Given the description of an element on the screen output the (x, y) to click on. 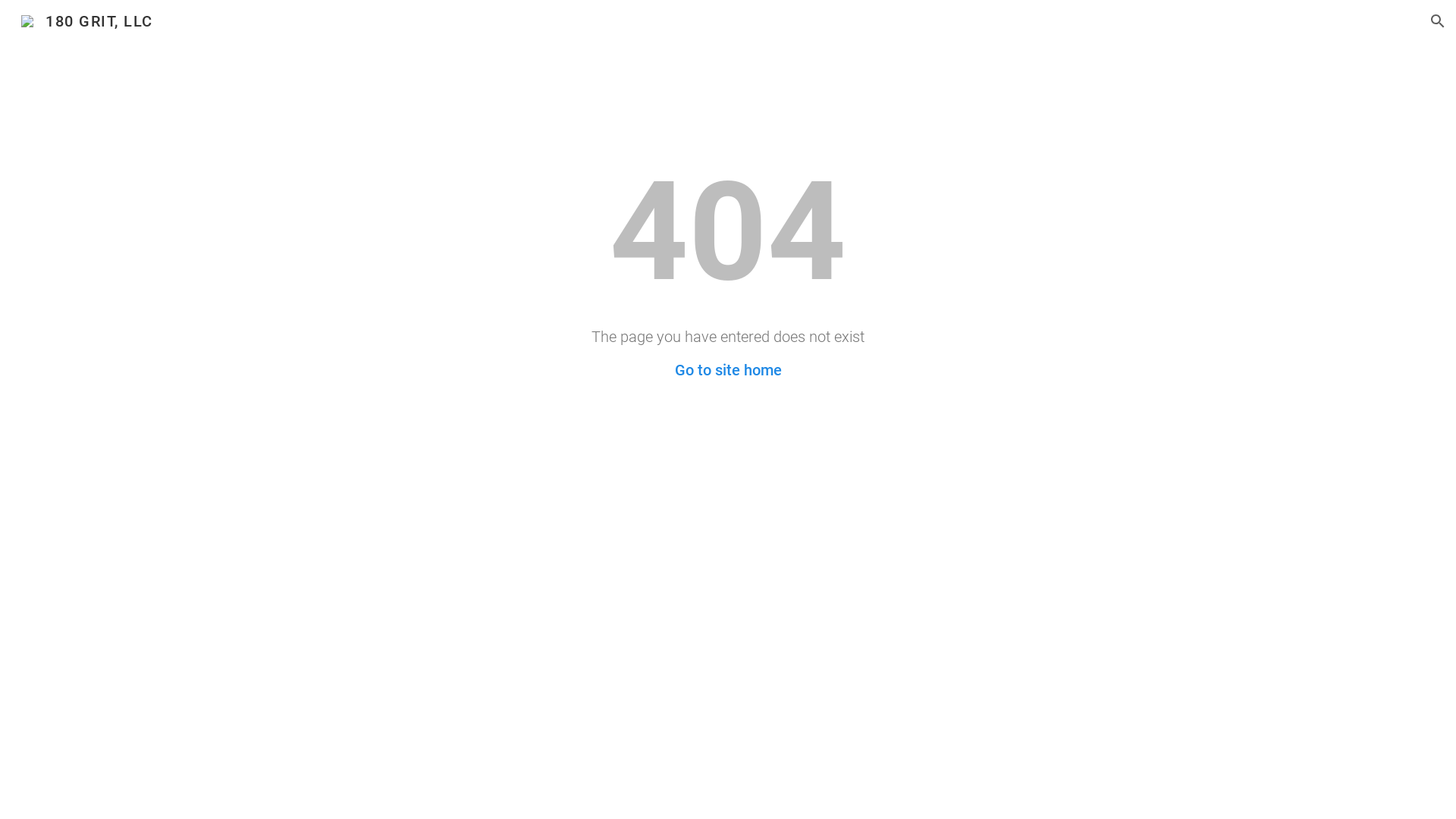
180 GRIT, LLC Element type: text (87, 19)
Go to site home Element type: text (727, 369)
